Given the description of an element on the screen output the (x, y) to click on. 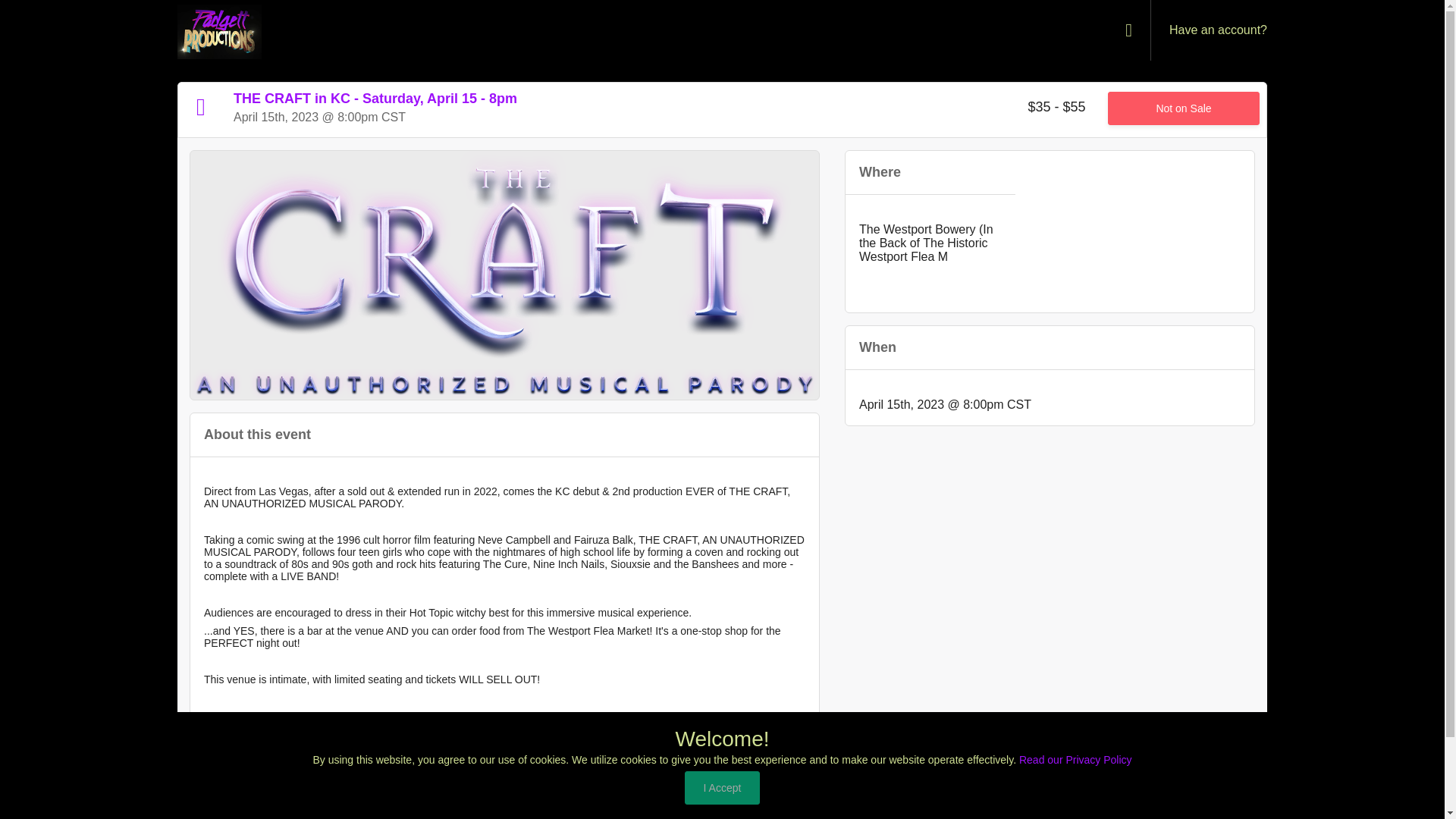
Have an account? (1214, 30)
Read our Privacy Policy (1075, 759)
Not on Sale (1183, 108)
I Accept (722, 787)
